Given the description of an element on the screen output the (x, y) to click on. 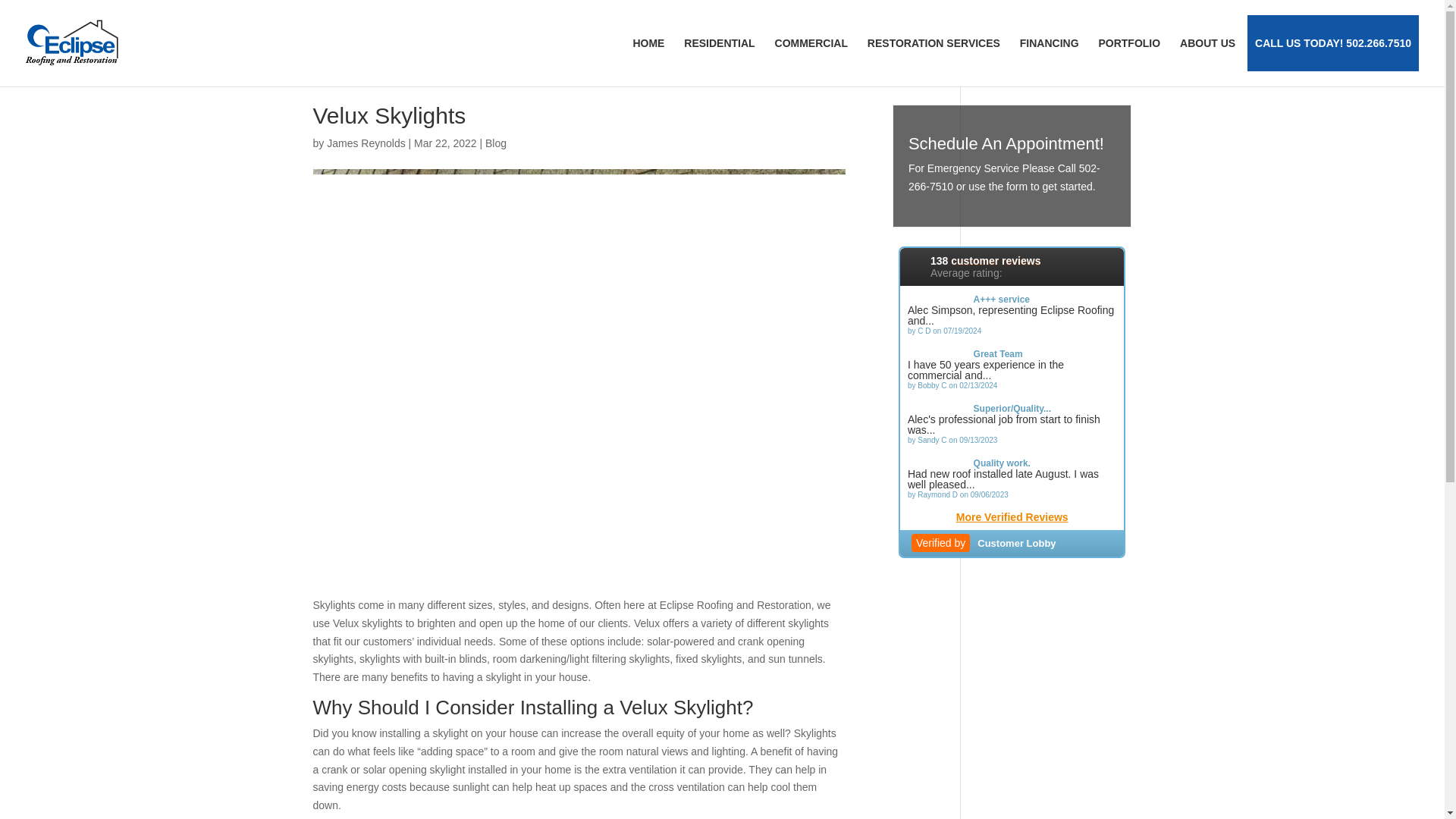
FINANCING (1048, 43)
Posts by James Reynolds (366, 143)
Blog (495, 143)
RESIDENTIAL (719, 43)
ABOUT US (1207, 43)
RESTORATION SERVICES (933, 43)
James Reynolds (366, 143)
PORTFOLIO (1128, 43)
CALL US TODAY! 502.266.7510 (1332, 43)
COMMERCIAL (811, 43)
More Verified Reviews (1011, 520)
